Given the description of an element on the screen output the (x, y) to click on. 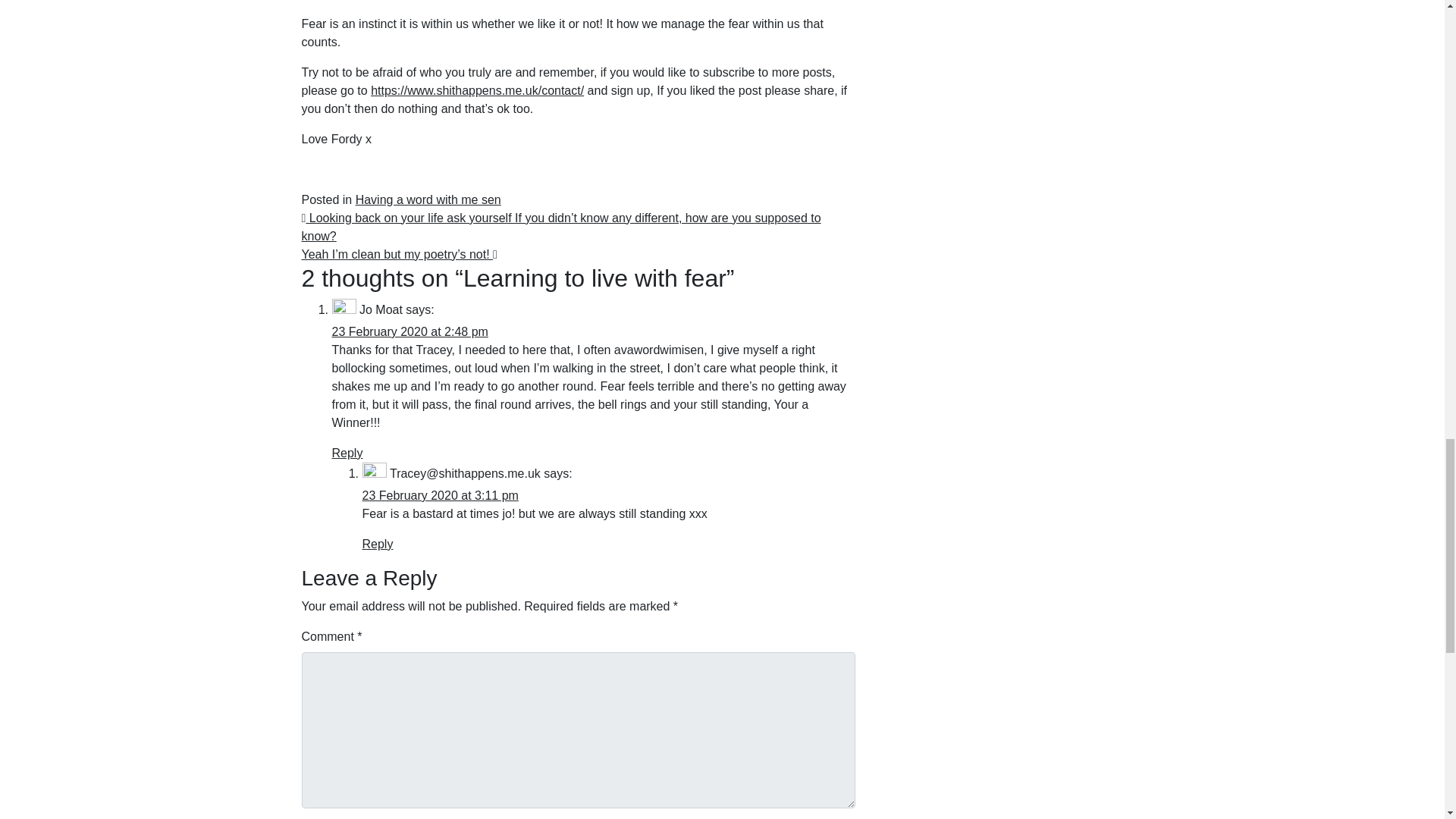
Reply (377, 543)
23 February 2020 at 3:11 pm (440, 495)
Reply (346, 452)
Having a word with me sen (427, 199)
23 February 2020 at 2:48 pm (409, 331)
